Given the description of an element on the screen output the (x, y) to click on. 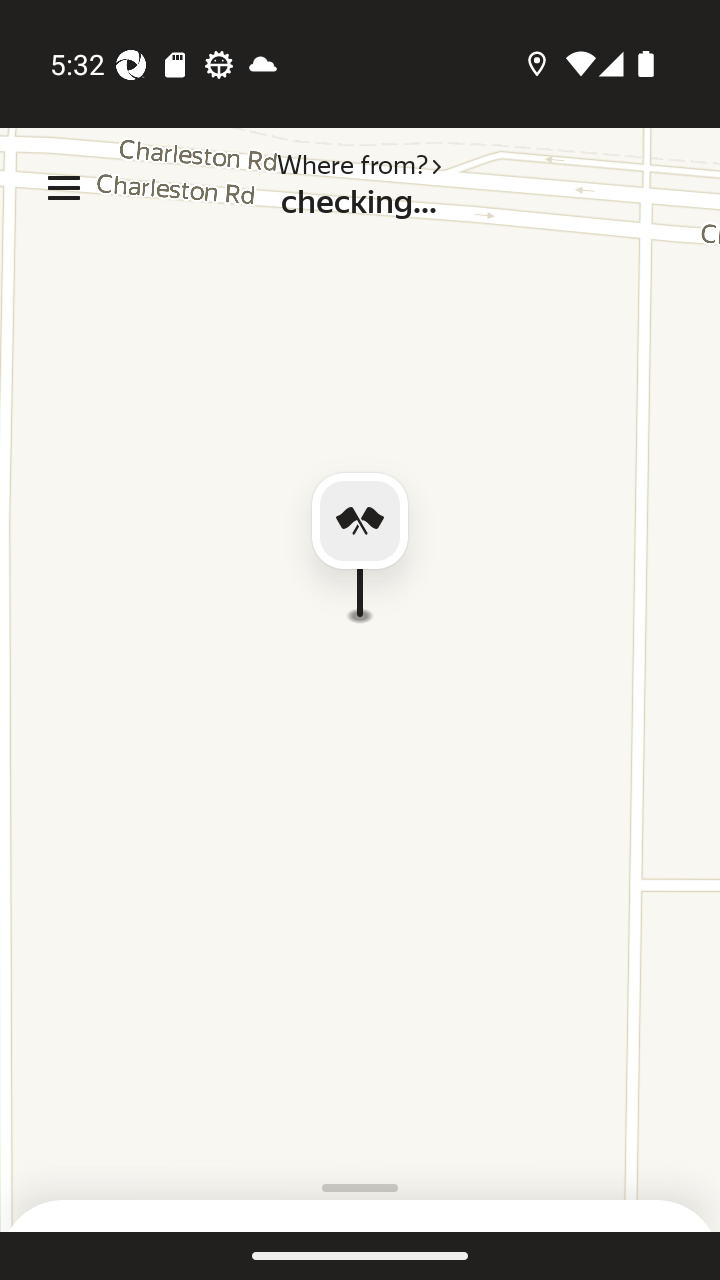
Menu Menu Menu (64, 188)
